Given the description of an element on the screen output the (x, y) to click on. 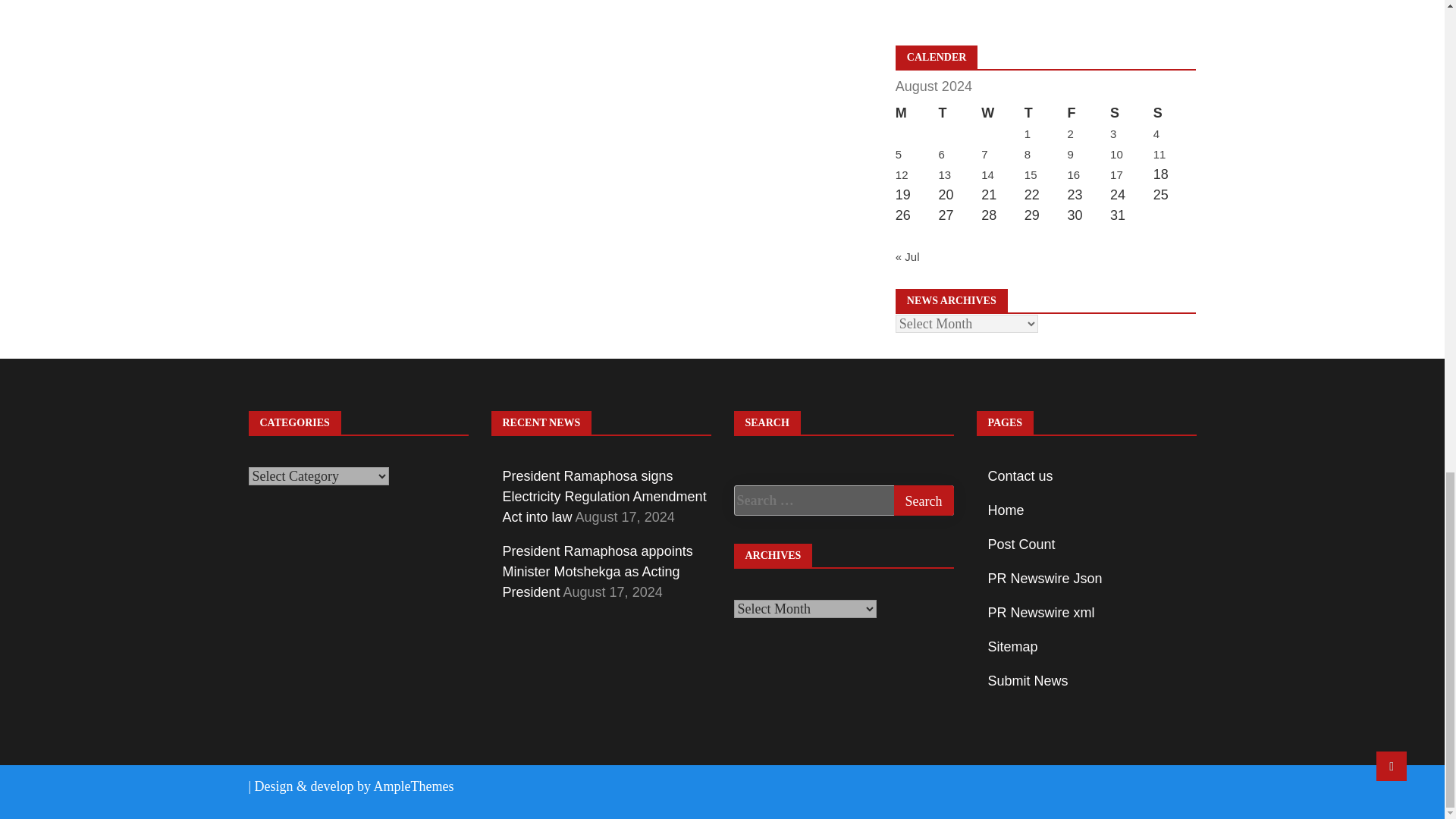
Friday (1088, 113)
Tuesday (959, 113)
Search (923, 500)
Monday (917, 113)
Sunday (1174, 113)
Thursday (1046, 113)
Search (923, 500)
Wednesday (1003, 113)
Saturday (1131, 113)
